Given the description of an element on the screen output the (x, y) to click on. 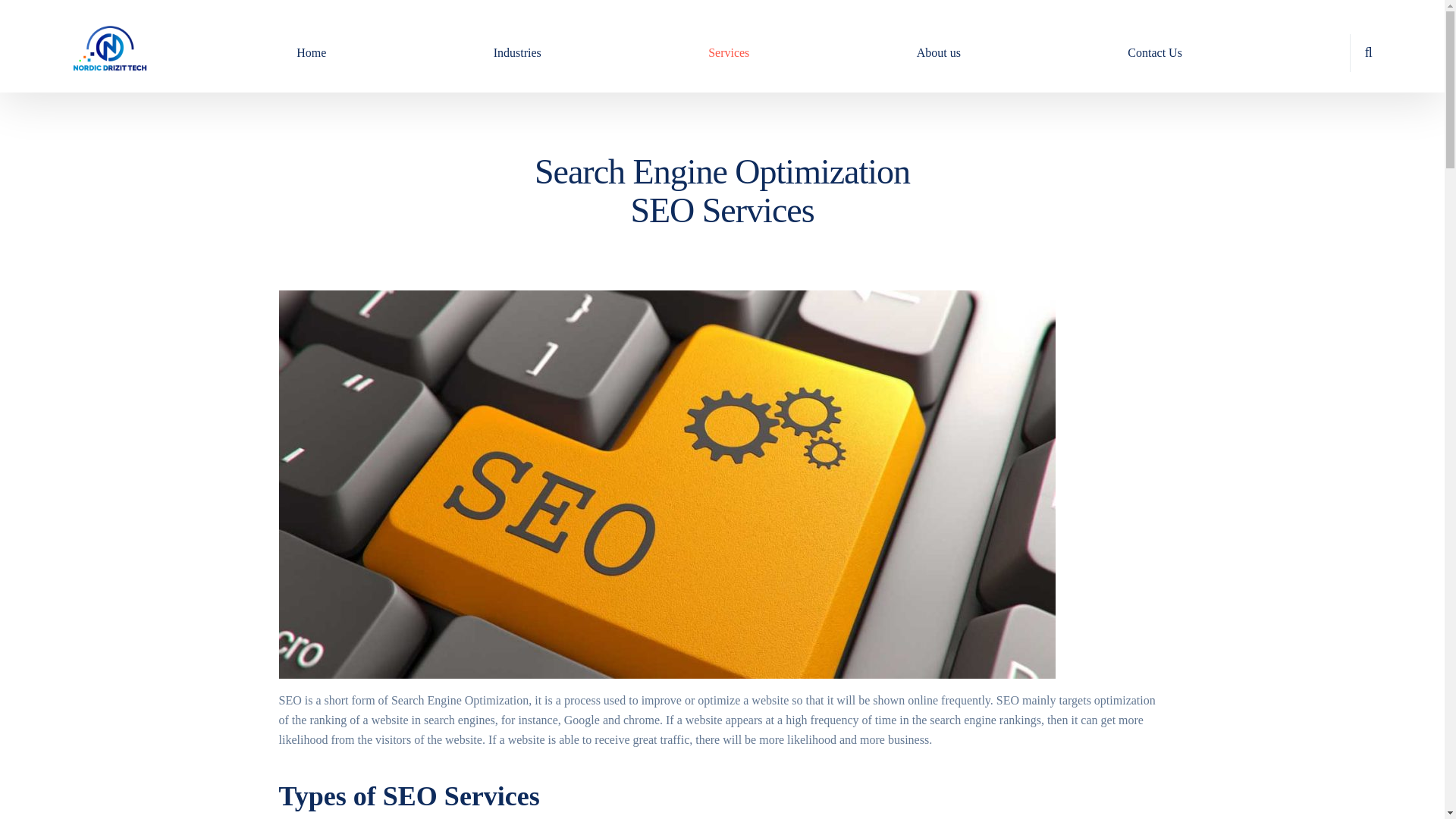
Contact Us (1154, 52)
Home (310, 52)
Services (728, 52)
Industries (516, 52)
About us (938, 52)
